Given the description of an element on the screen output the (x, y) to click on. 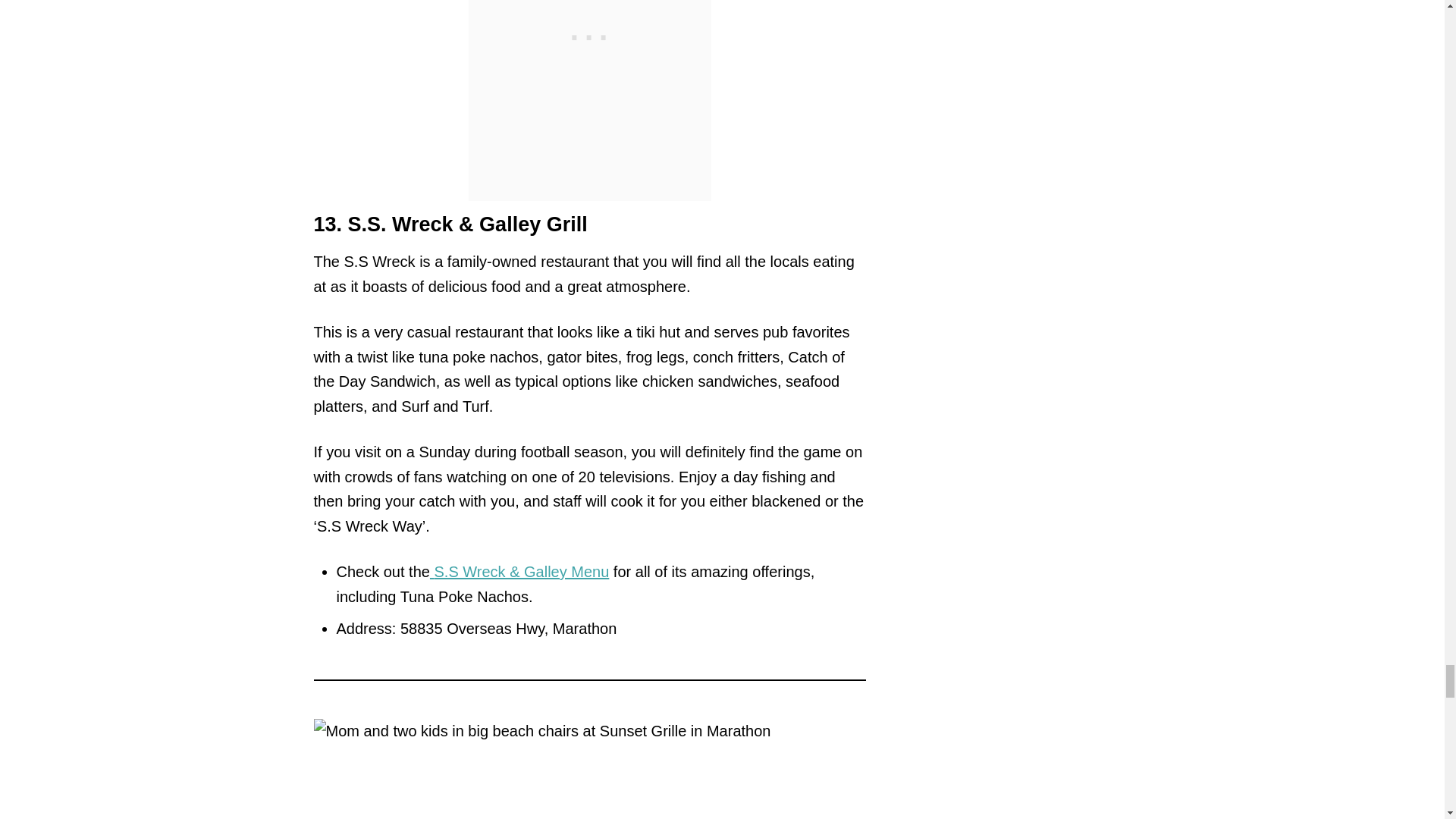
Best Restaurants in Marathon, Florida that you must TRY! 11 (590, 769)
